Given the description of an element on the screen output the (x, y) to click on. 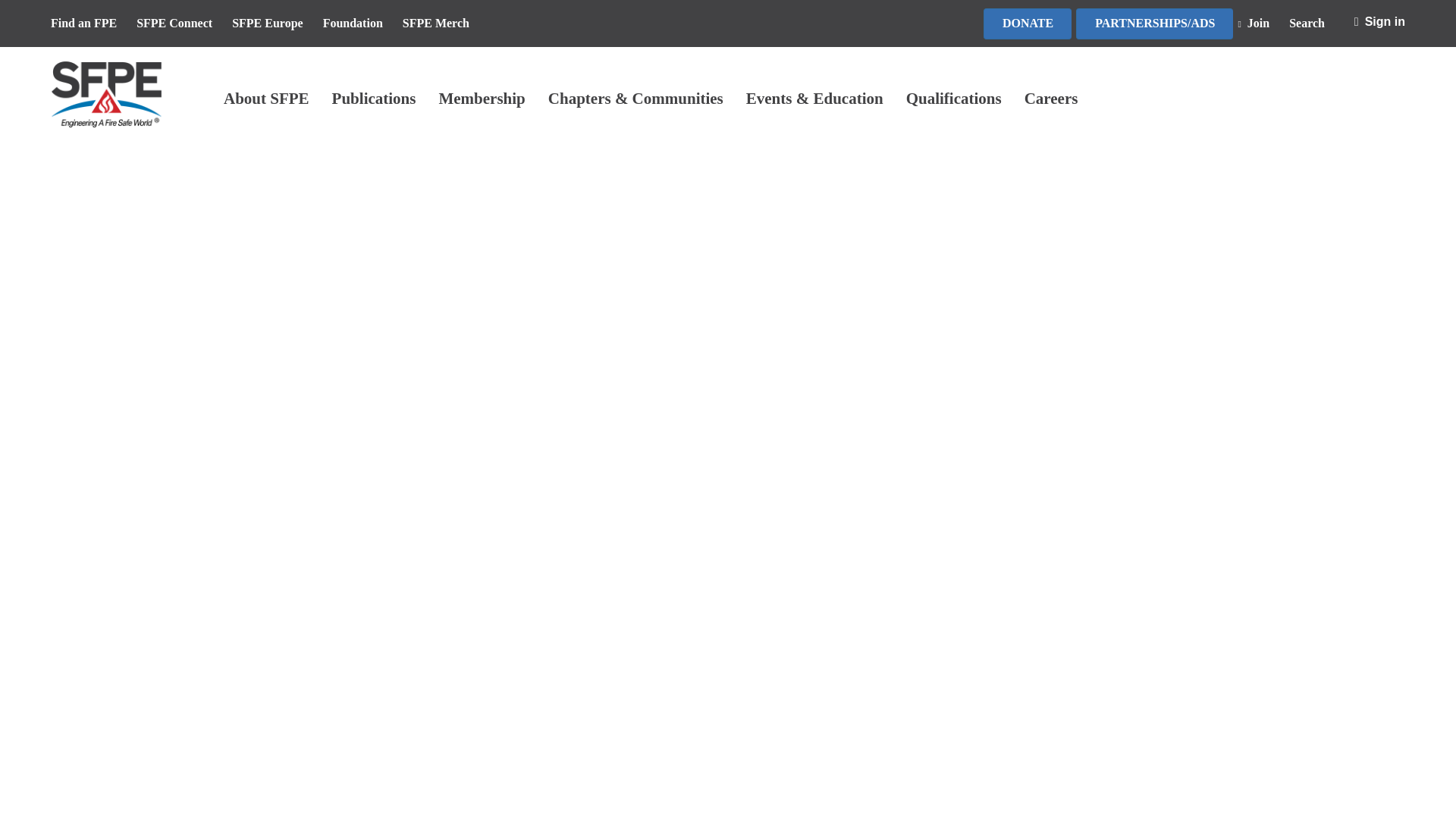
DONATE (1027, 23)
SFPE Merch (443, 23)
Search Page (1260, 23)
Sign in (1379, 22)
Find an FPE (91, 23)
Search Page (1313, 23)
About SFPE (266, 98)
Join (1260, 23)
Search (1313, 23)
SFPE Connect (181, 23)
